Given the description of an element on the screen output the (x, y) to click on. 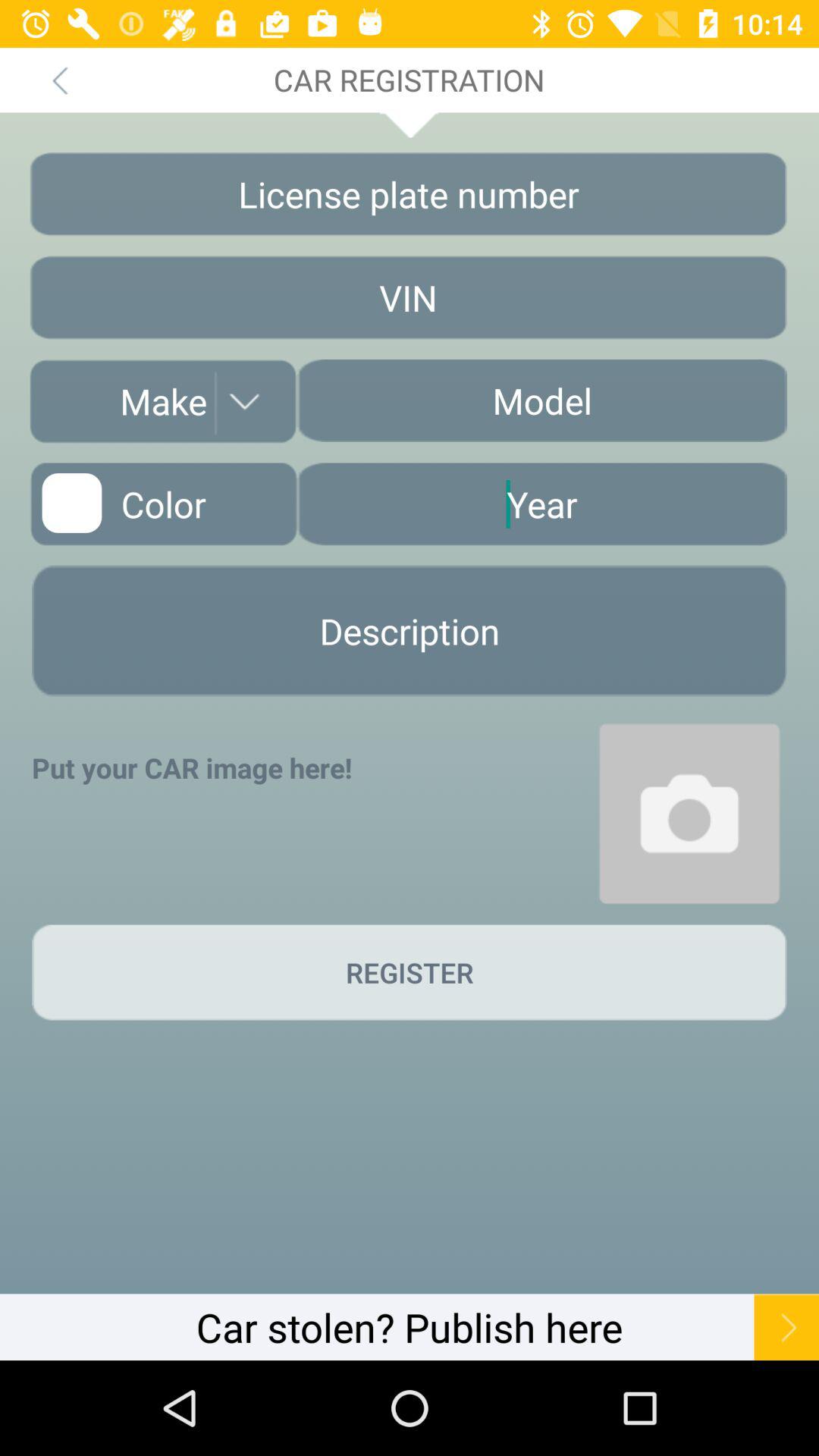
car model (541, 400)
